Given the description of an element on the screen output the (x, y) to click on. 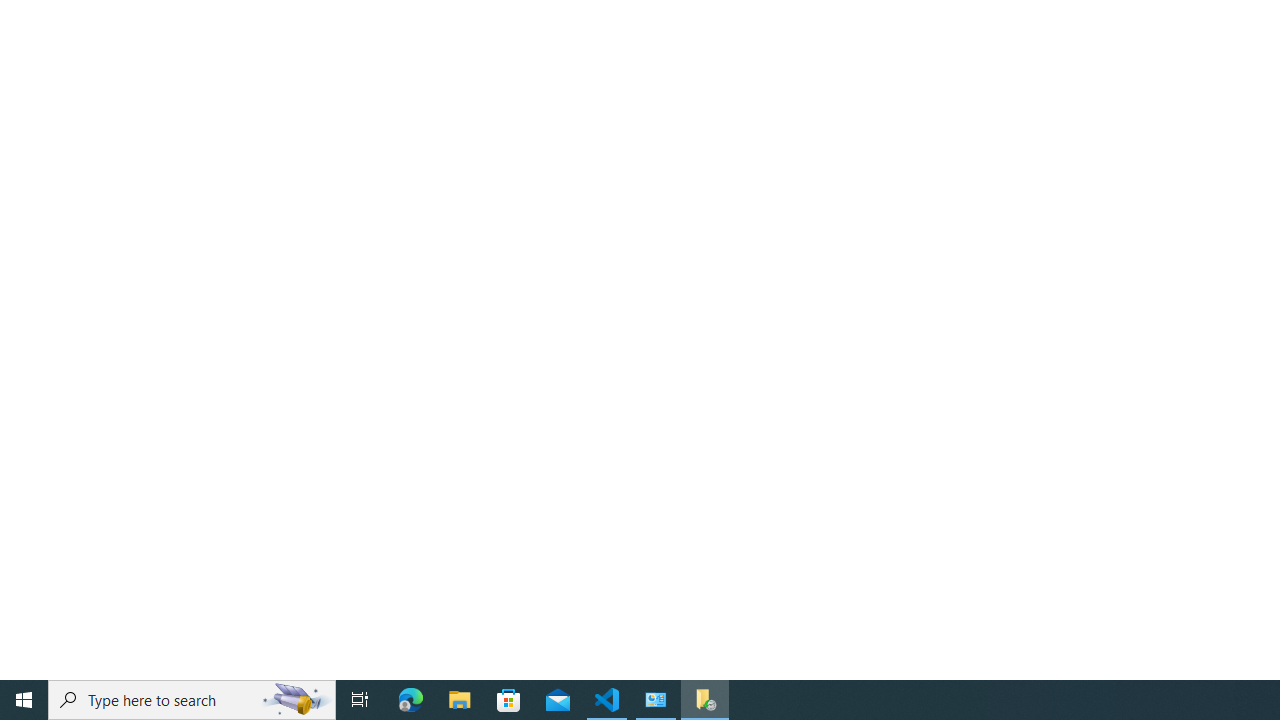
File History - 1 running window (704, 699)
Control Panel - 1 running window (656, 699)
